Given the description of an element on the screen output the (x, y) to click on. 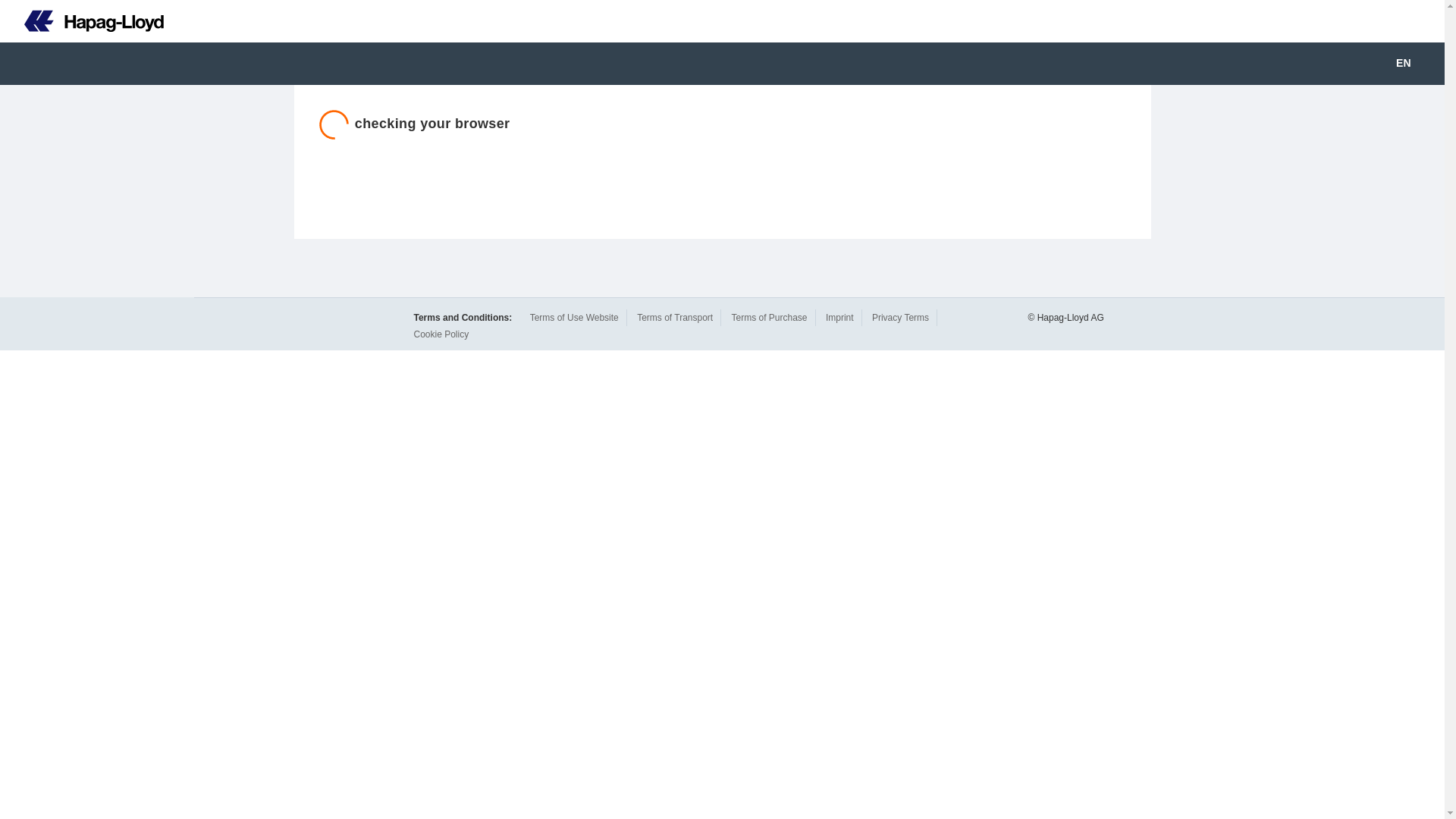
Hapag-Lloyd Logo (81, 21)
Privacy Terms (900, 317)
Hapag-Lloyd Logo (93, 21)
Terms of Use Website (573, 317)
Terms of Purchase (768, 317)
Imprint (839, 317)
Terms of Transport (675, 317)
Cookie Policy (440, 334)
EN (1414, 63)
